Given the description of an element on the screen output the (x, y) to click on. 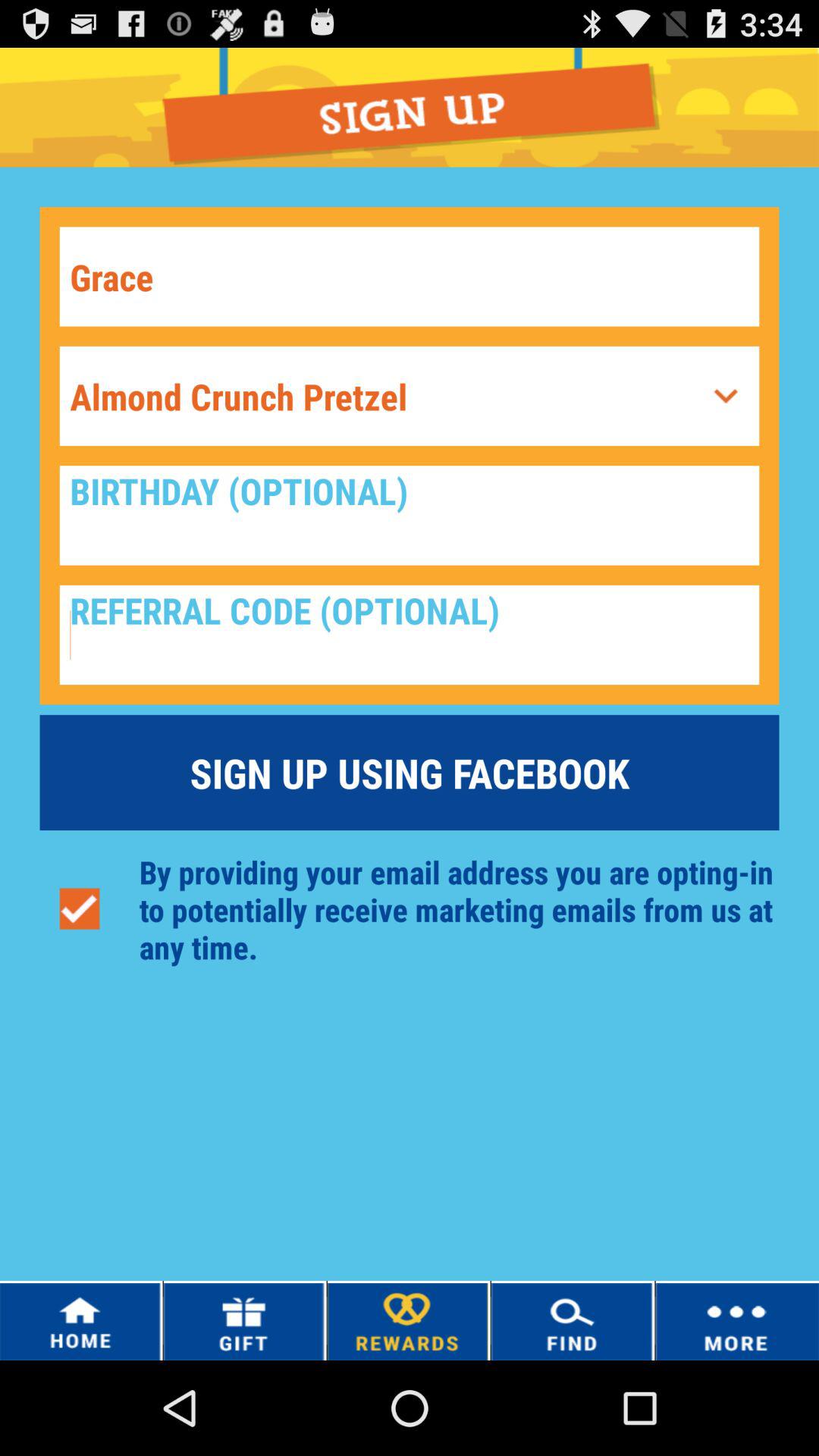
consent to potentially receive marketing emails (79, 909)
